Given the description of an element on the screen output the (x, y) to click on. 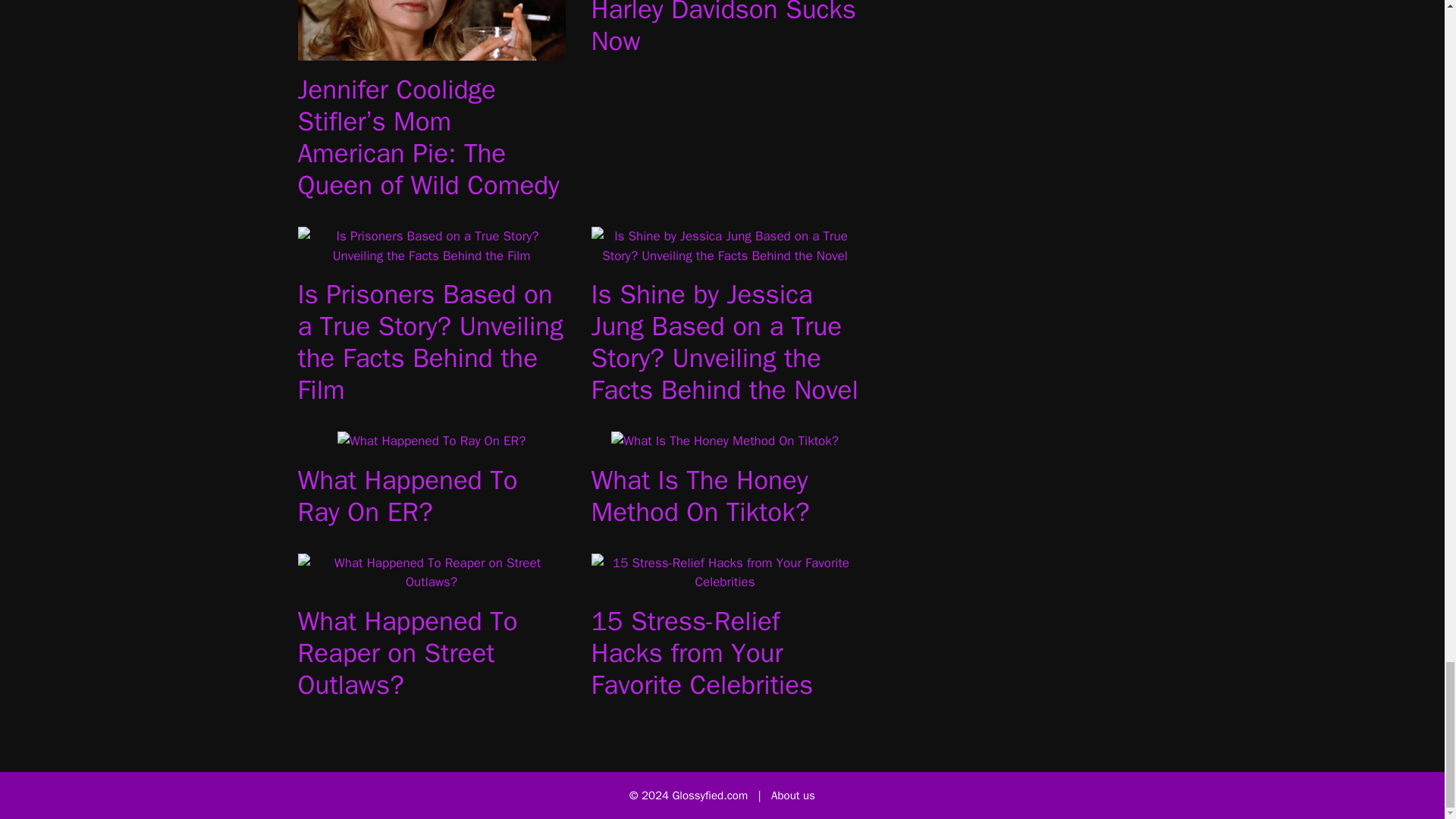
15 Stress-Relief Hacks from Your Favorite Celebrities (725, 581)
What Happened To Ray On ER? (431, 440)
10 Reasons Why Harley Davidson Sucks Now (724, 28)
What Is The Honey Method On Tiktok? (724, 440)
What Happened To Reaper on Street Outlaws? (430, 581)
15 Stress-Relief Hacks from Your Favorite Celebrities (702, 652)
What Happened To Reaper on Street Outlaws? (406, 652)
What Is The Honey Method On Tiktok? (700, 495)
What Happened To Ray On ER? (406, 495)
